Given the description of an element on the screen output the (x, y) to click on. 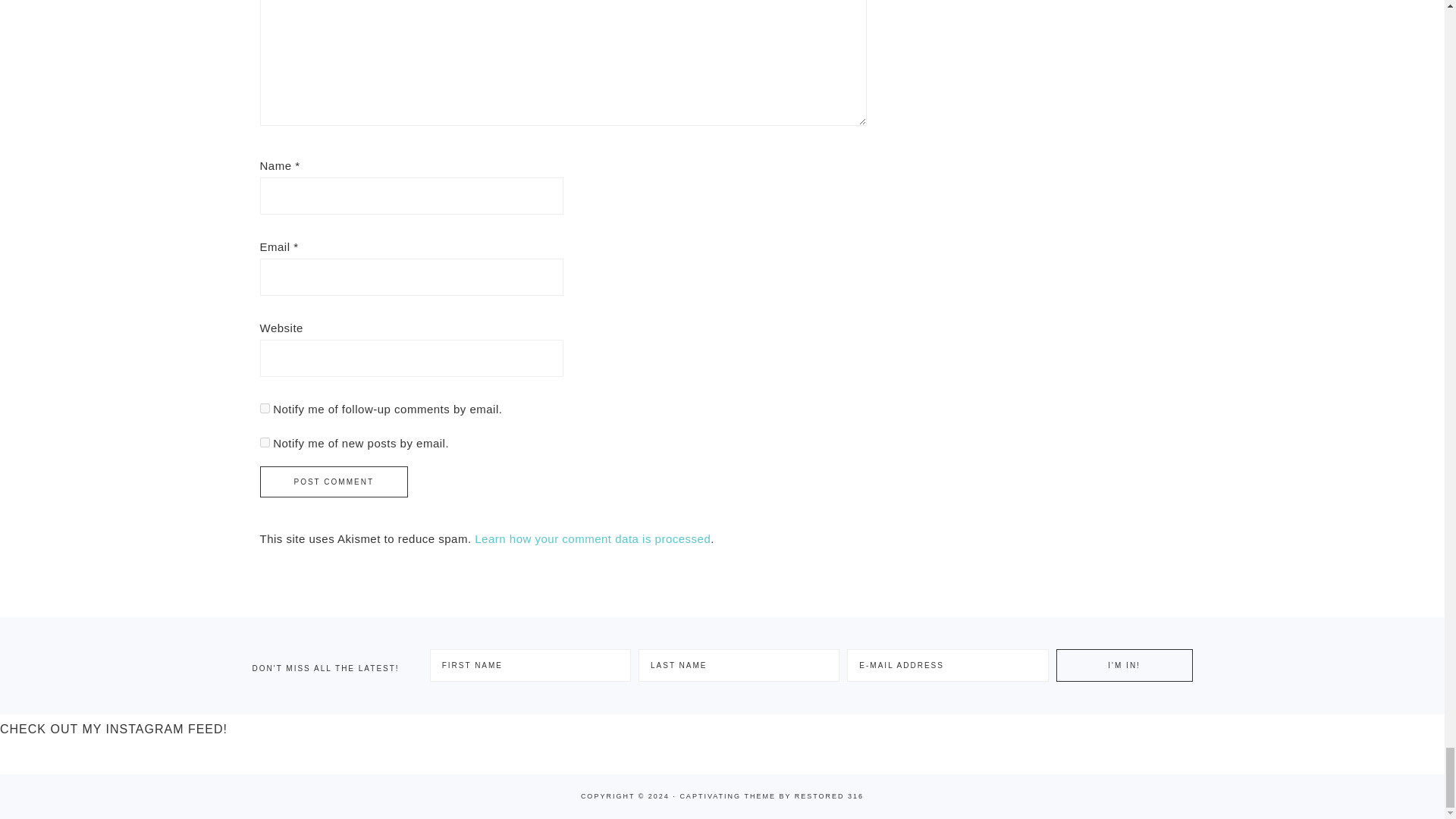
subscribe (264, 442)
subscribe (264, 408)
Post Comment (333, 481)
